Given the description of an element on the screen output the (x, y) to click on. 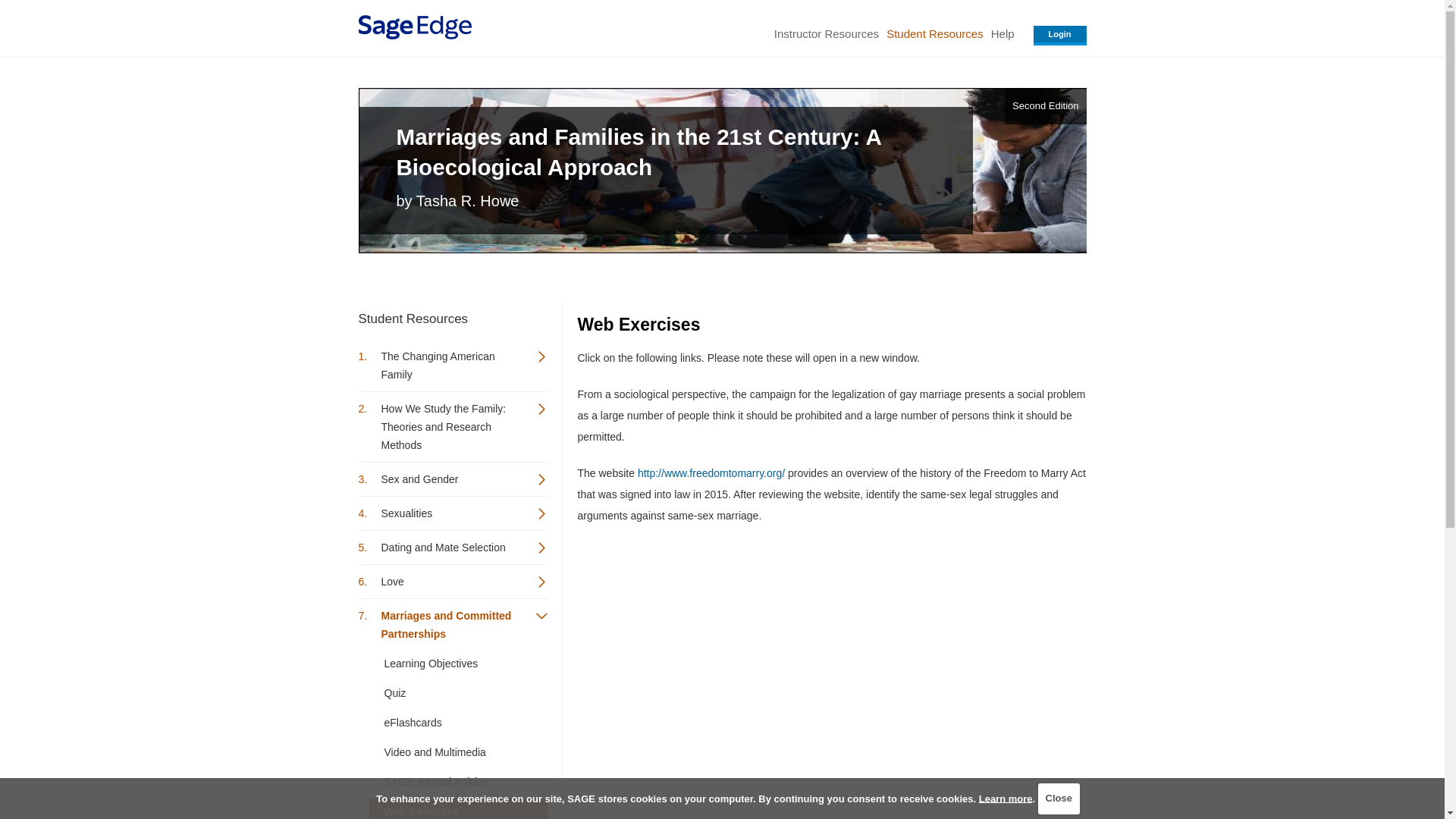
How We Study the Family: Theories and Research Methods (452, 426)
Sexualities (452, 513)
Learn more (1005, 797)
The Changing American Family (452, 365)
Site Logo (414, 27)
Login (1059, 35)
Help (1002, 33)
Student Resources (934, 33)
Instructor Resources (826, 33)
Sex and Gender (452, 479)
